Given the description of an element on the screen output the (x, y) to click on. 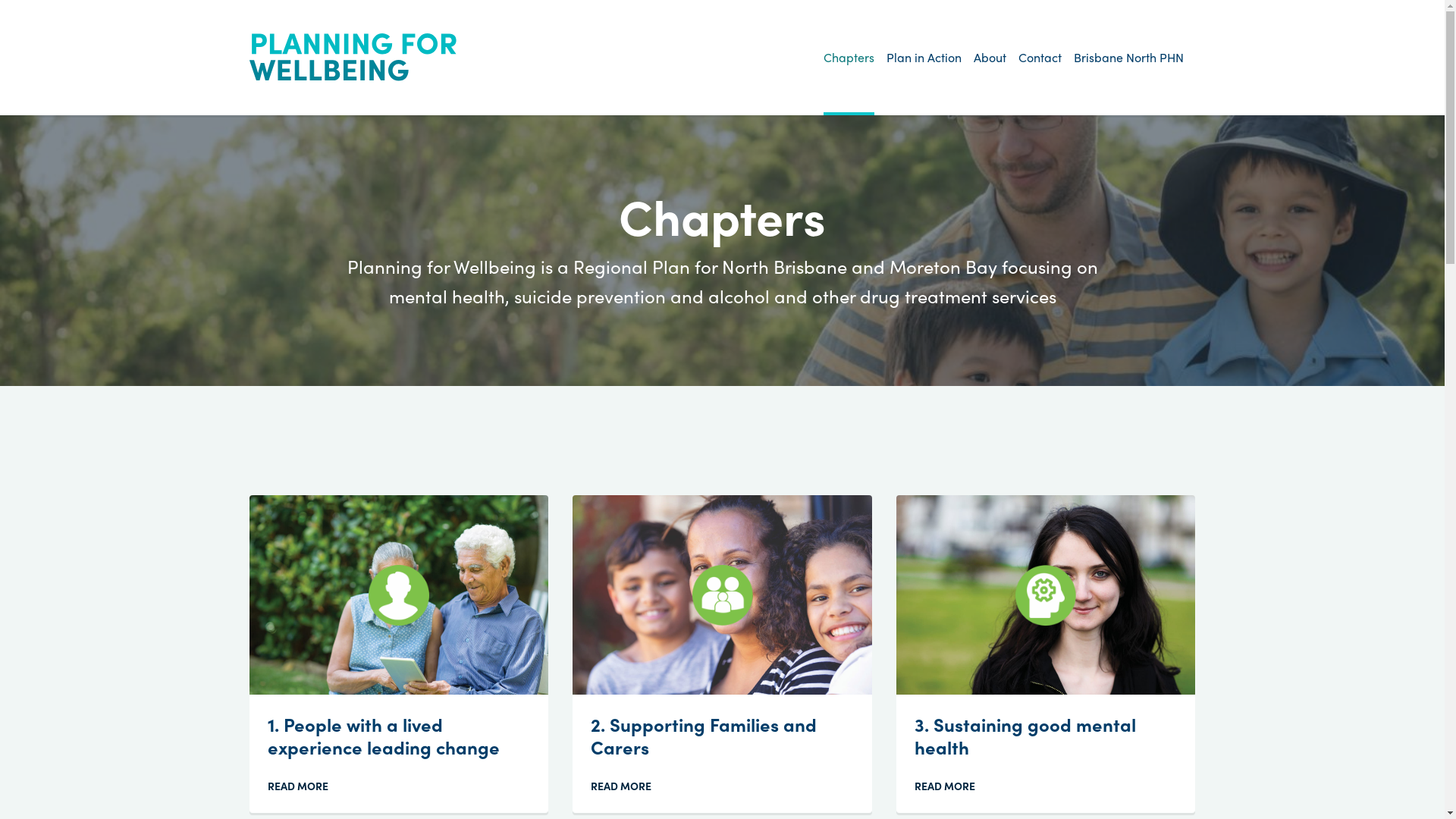
About Element type: text (989, 57)
2. Supporting Families and Carers Element type: text (703, 735)
READ MORE Element type: text (303, 785)
READ MORE Element type: text (950, 785)
Plan in Action Element type: text (922, 57)
1. People with a lived experience leading change Element type: text (383, 735)
Chapters Element type: text (848, 57)
Brisbane North PHN Element type: text (1128, 57)
READ MORE Element type: text (626, 785)
Contact Element type: text (1038, 57)
3. Sustaining good mental health Element type: text (1024, 735)
